Given the description of an element on the screen output the (x, y) to click on. 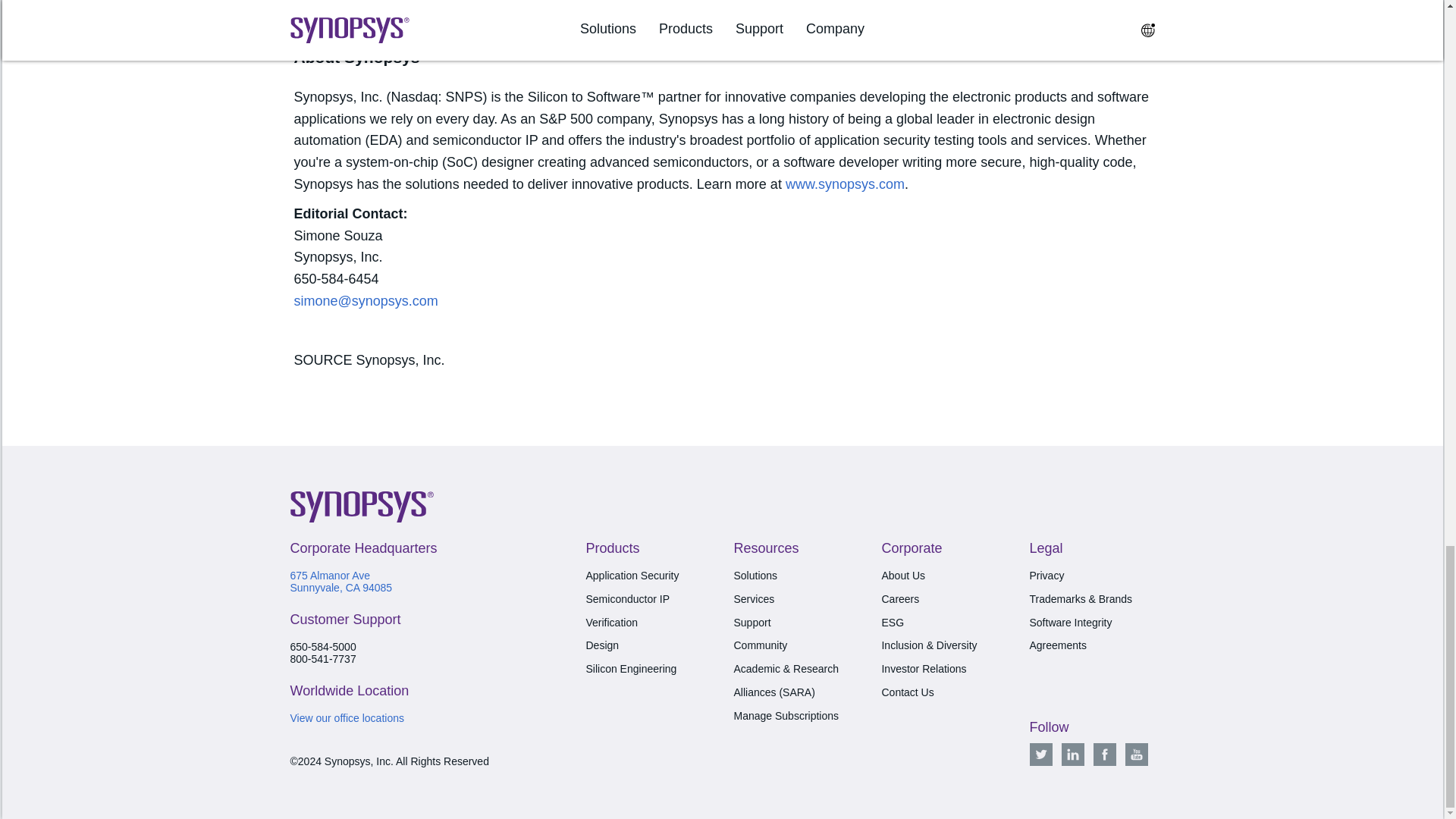
Linkedin (1072, 753)
Twitter (1040, 753)
Facebook (1104, 753)
